Given the description of an element on the screen output the (x, y) to click on. 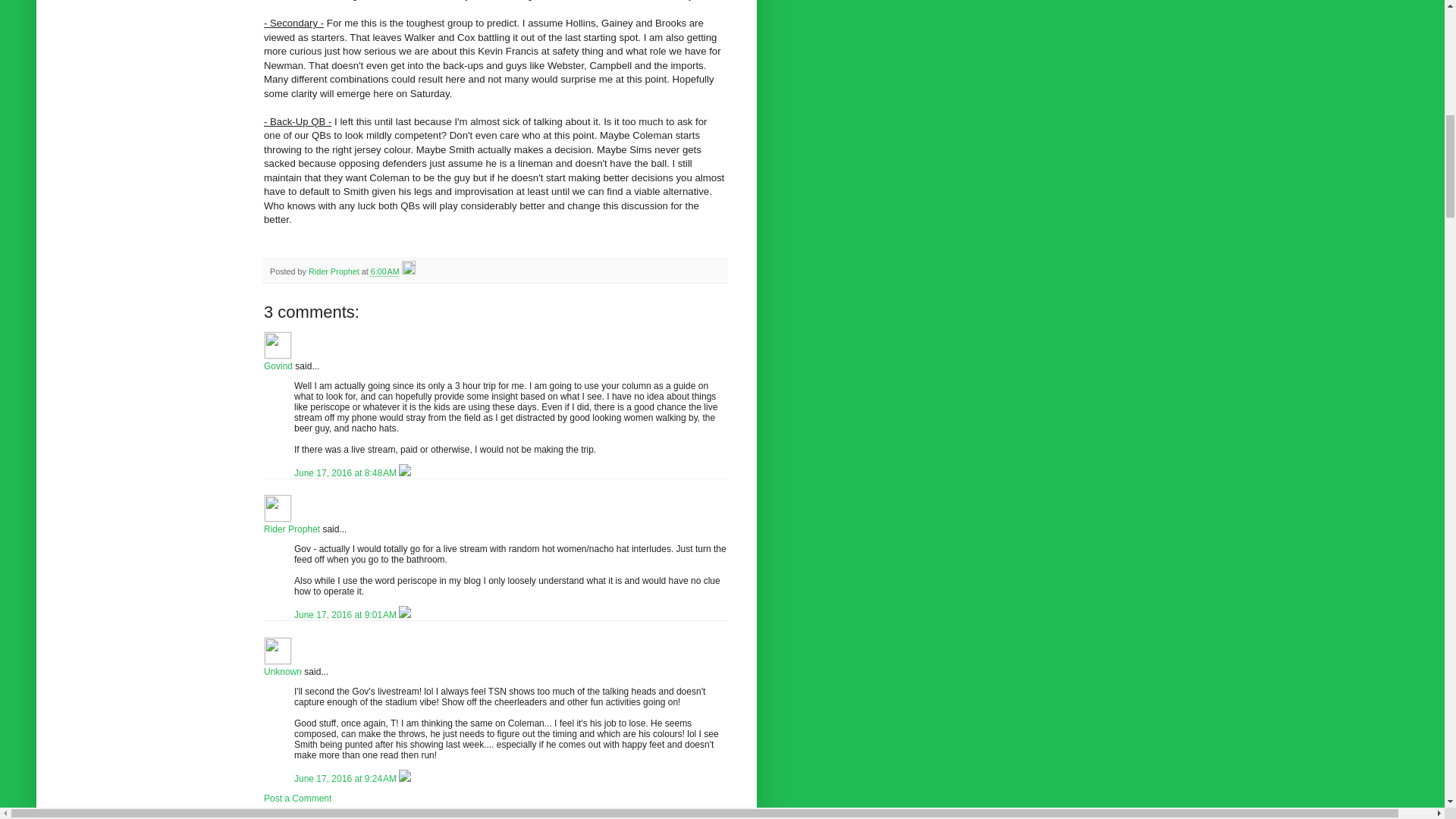
Post a Comment (297, 798)
Govind (277, 366)
Unknown (282, 671)
Govind (277, 345)
comment permalink (346, 614)
comment permalink (346, 778)
Unknown (277, 651)
Delete Comment (404, 778)
Delete Comment (404, 472)
Rider Prophet (334, 271)
comment permalink (346, 472)
author profile (334, 271)
